Given the description of an element on the screen output the (x, y) to click on. 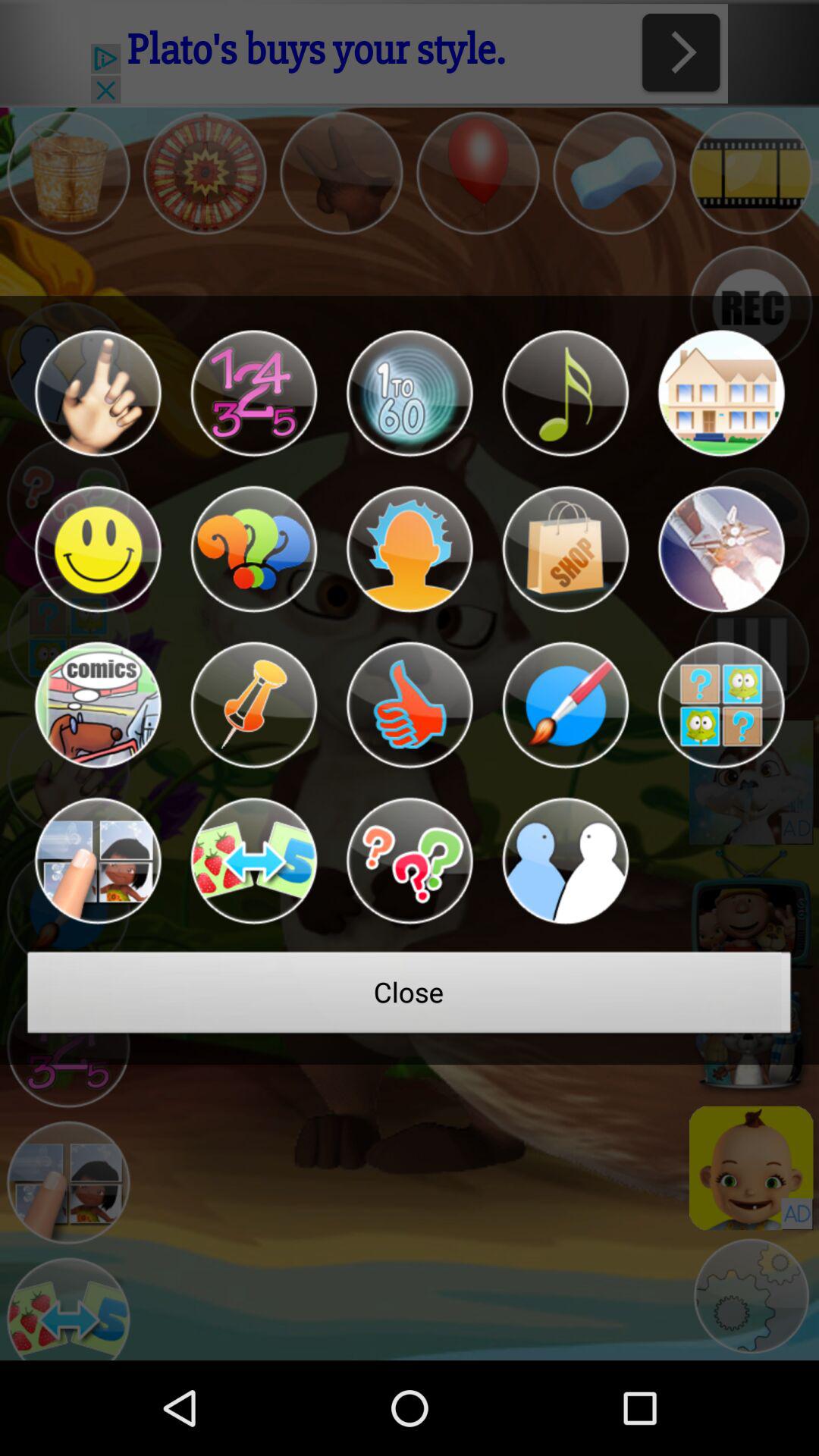
pin this option (253, 705)
